Given the description of an element on the screen output the (x, y) to click on. 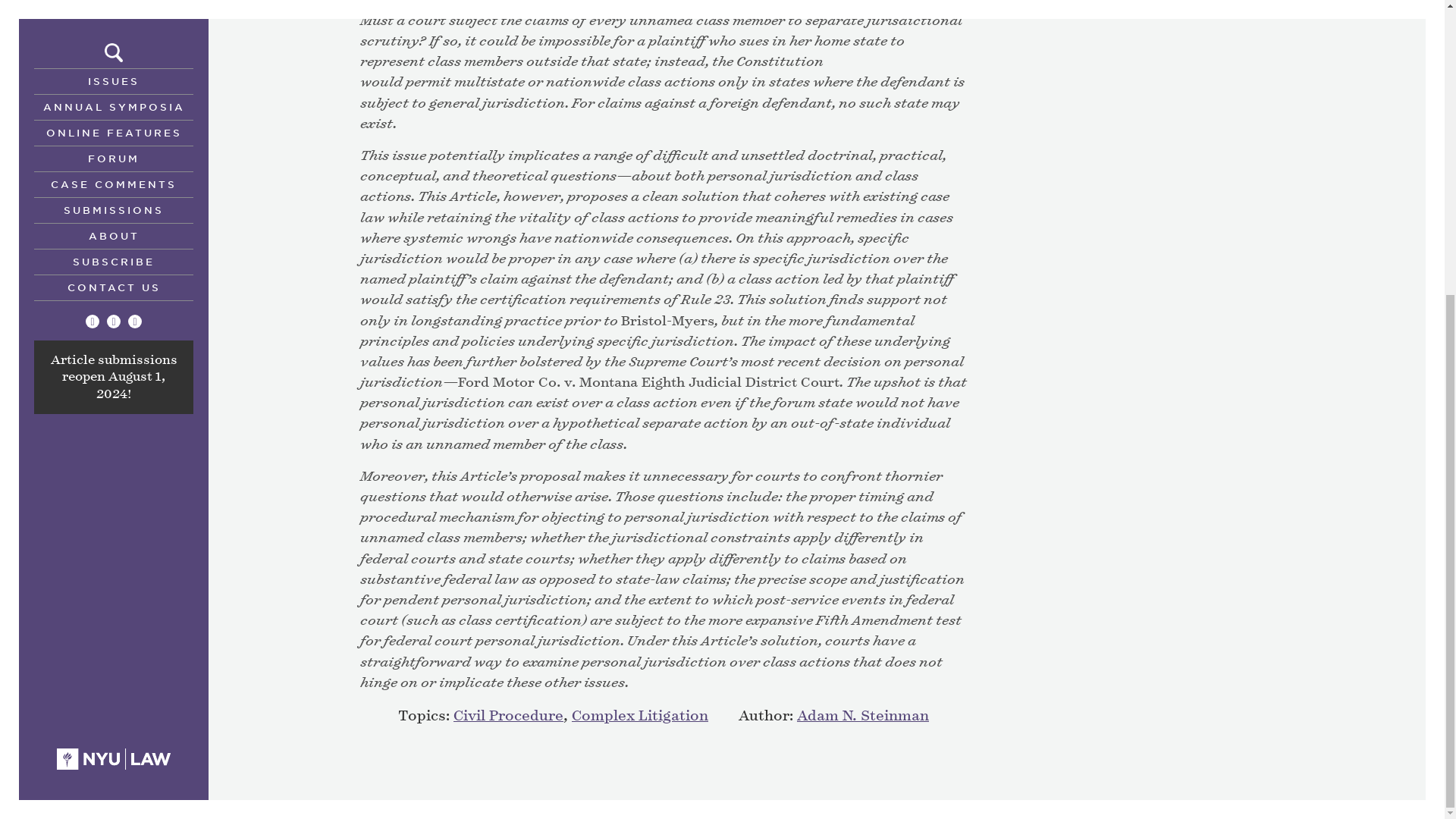
Complex Litigation (639, 715)
Civil Procedure (507, 715)
Adam N. Steinman (862, 715)
